Given the description of an element on the screen output the (x, y) to click on. 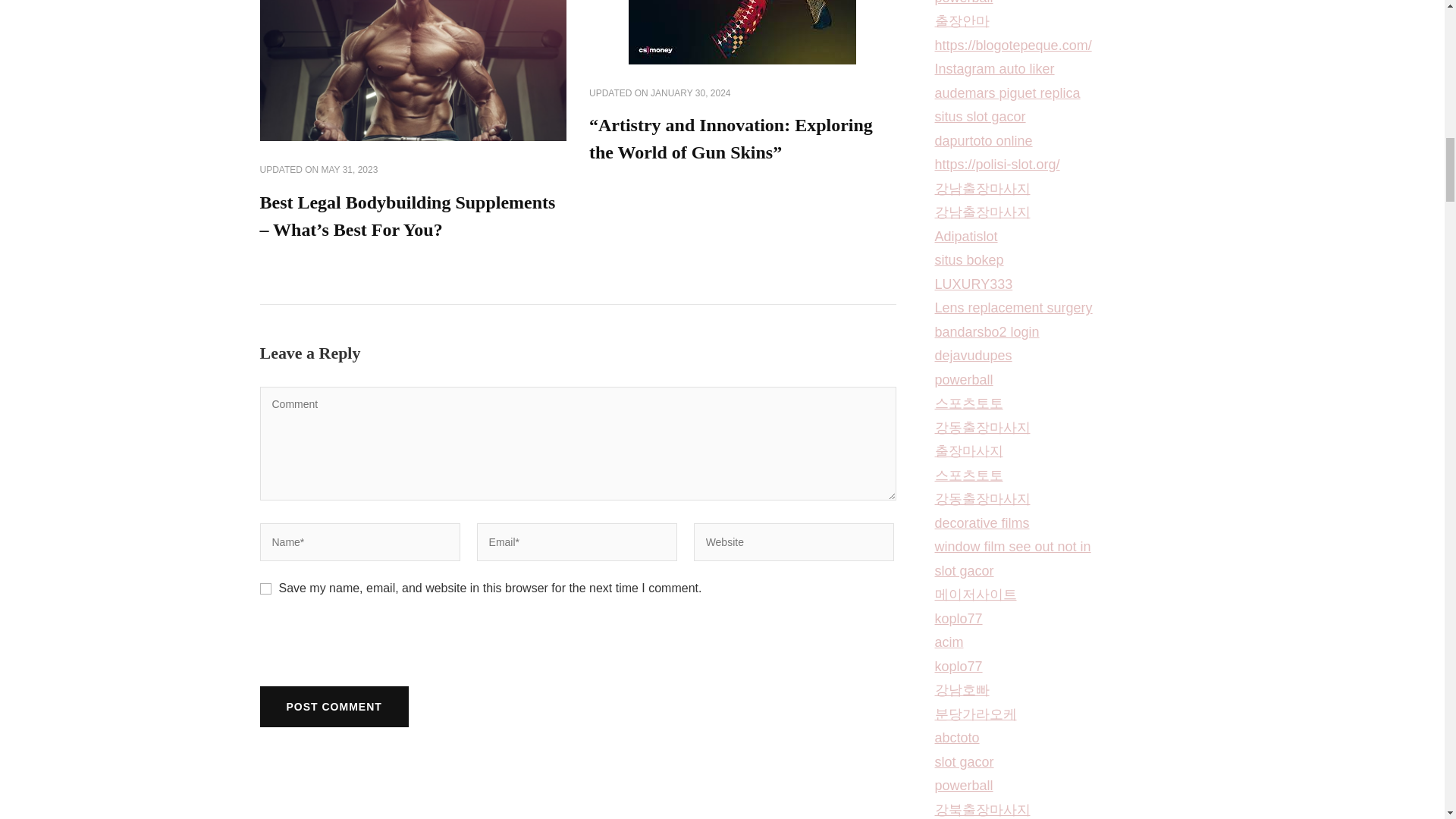
MAY 31, 2023 (349, 170)
reCAPTCHA (374, 651)
JANUARY 30, 2024 (690, 93)
Post Comment (333, 706)
